Given the description of an element on the screen output the (x, y) to click on. 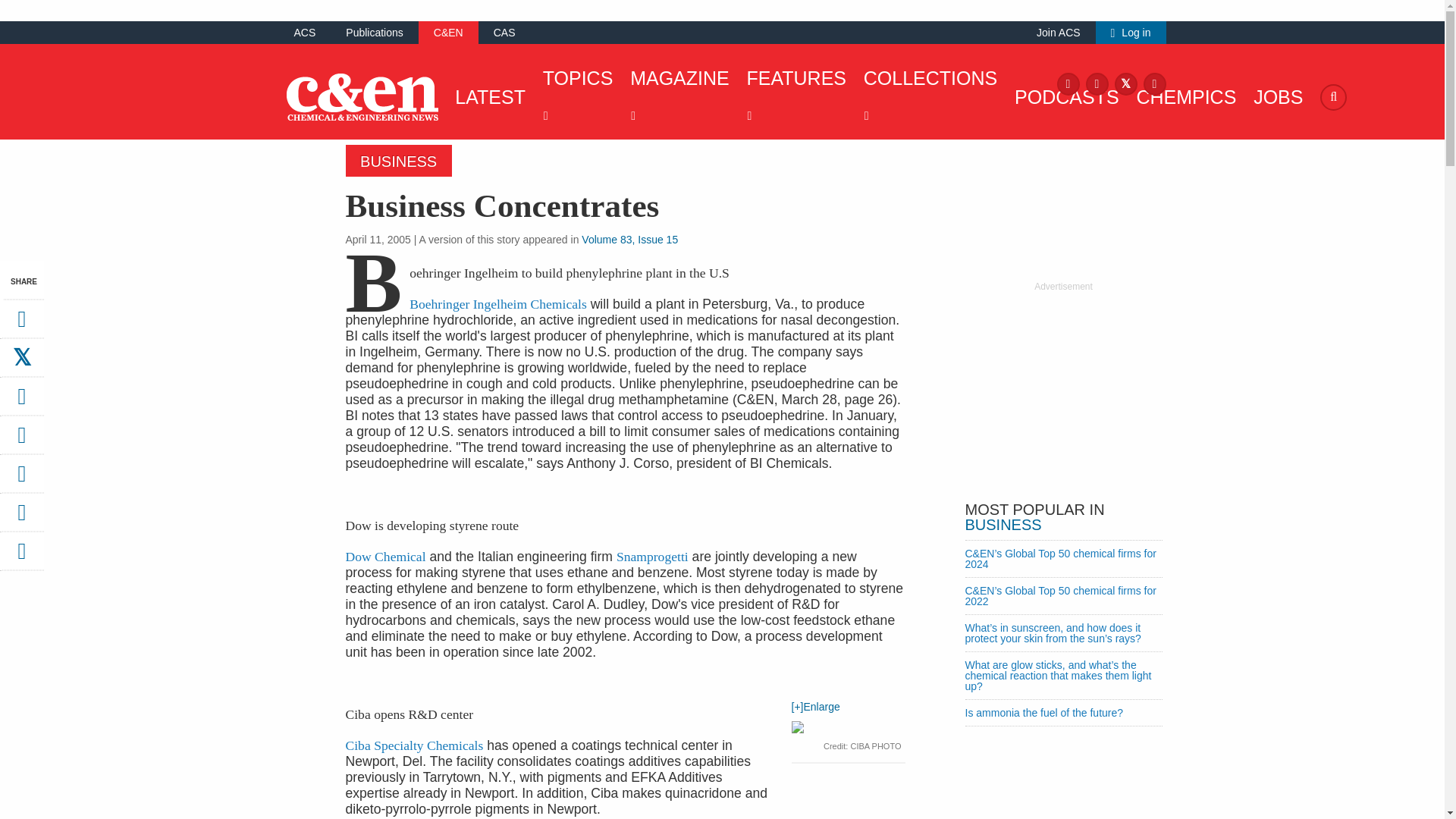
LinkedIn (1154, 82)
CAS (504, 32)
Publications (374, 32)
LATEST (485, 96)
ACS (304, 32)
Instagram (1097, 82)
Facebook (1068, 82)
X (1126, 82)
Log in (1130, 32)
